Given the description of an element on the screen output the (x, y) to click on. 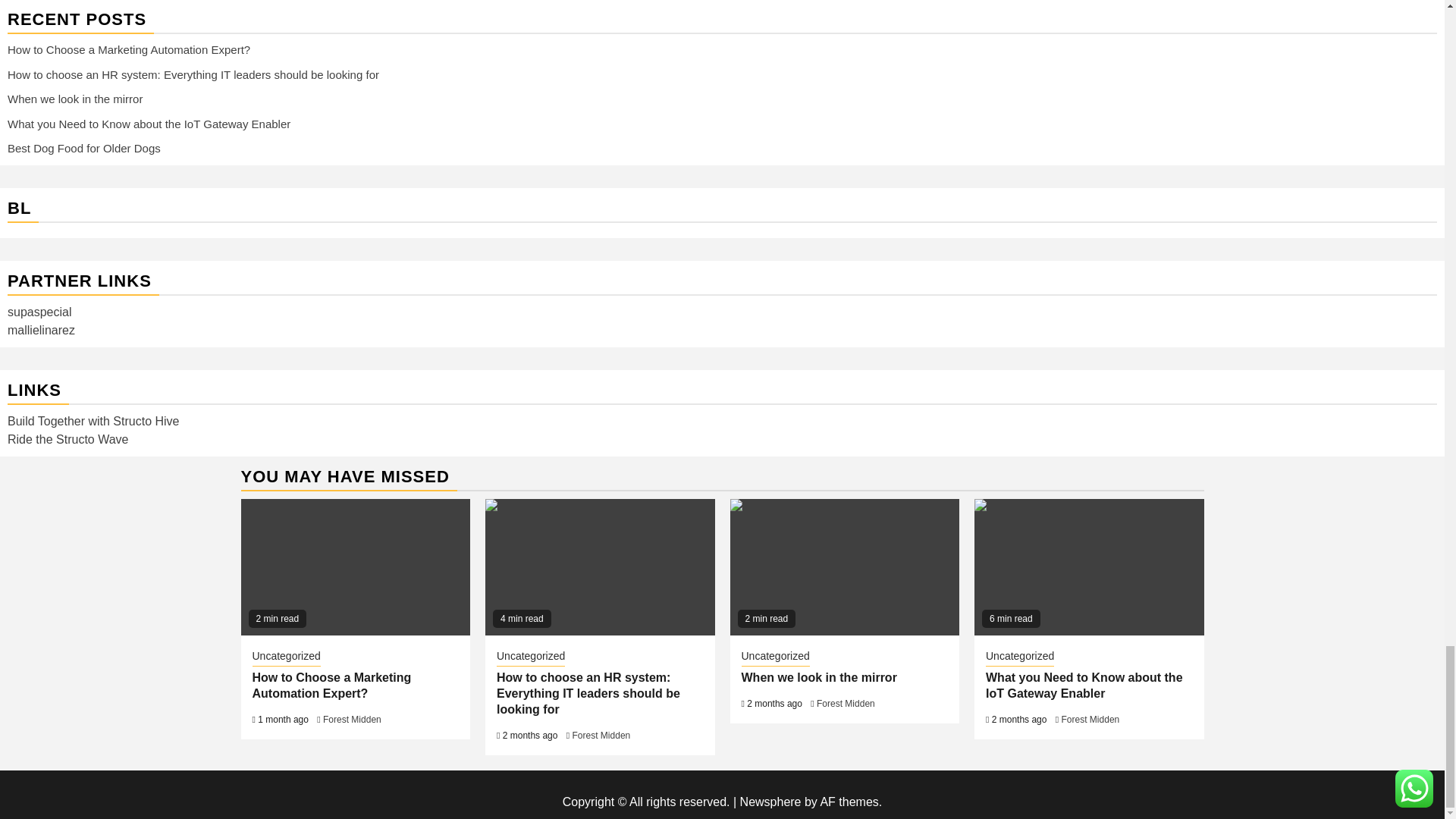
What you Need to Know about the IoT Gateway Enabler (1089, 566)
When we look in the mirror (844, 566)
